Given the description of an element on the screen output the (x, y) to click on. 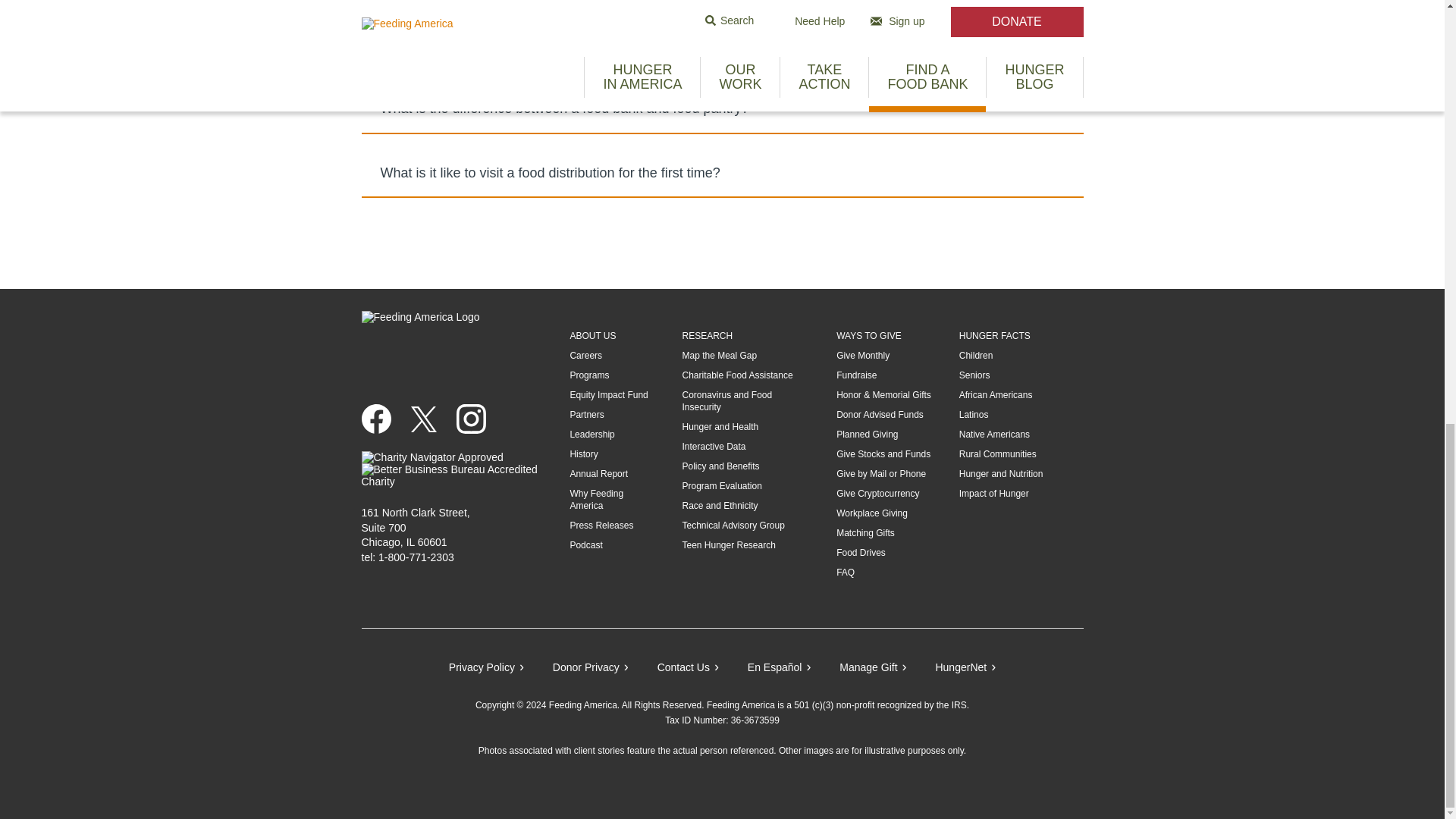
Our Leadership (591, 434)
Charitable Food Assistance Participation (736, 375)
Who can receive food at a food pantry or meal program? (722, 45)
Food Security Equity Impact Fund (608, 394)
Press Releases (601, 525)
Visit our X.com feed (423, 419)
Instagram (477, 419)
Visit our X.com feedVisit our X.com feed (429, 418)
Map the Meal Gap (719, 355)
Career Opportunities (585, 355)
Visit our Instagram (477, 419)
Podcast (585, 544)
Annual Report (598, 473)
Visit our Facebook page (382, 419)
Partners (586, 414)
